Given the description of an element on the screen output the (x, y) to click on. 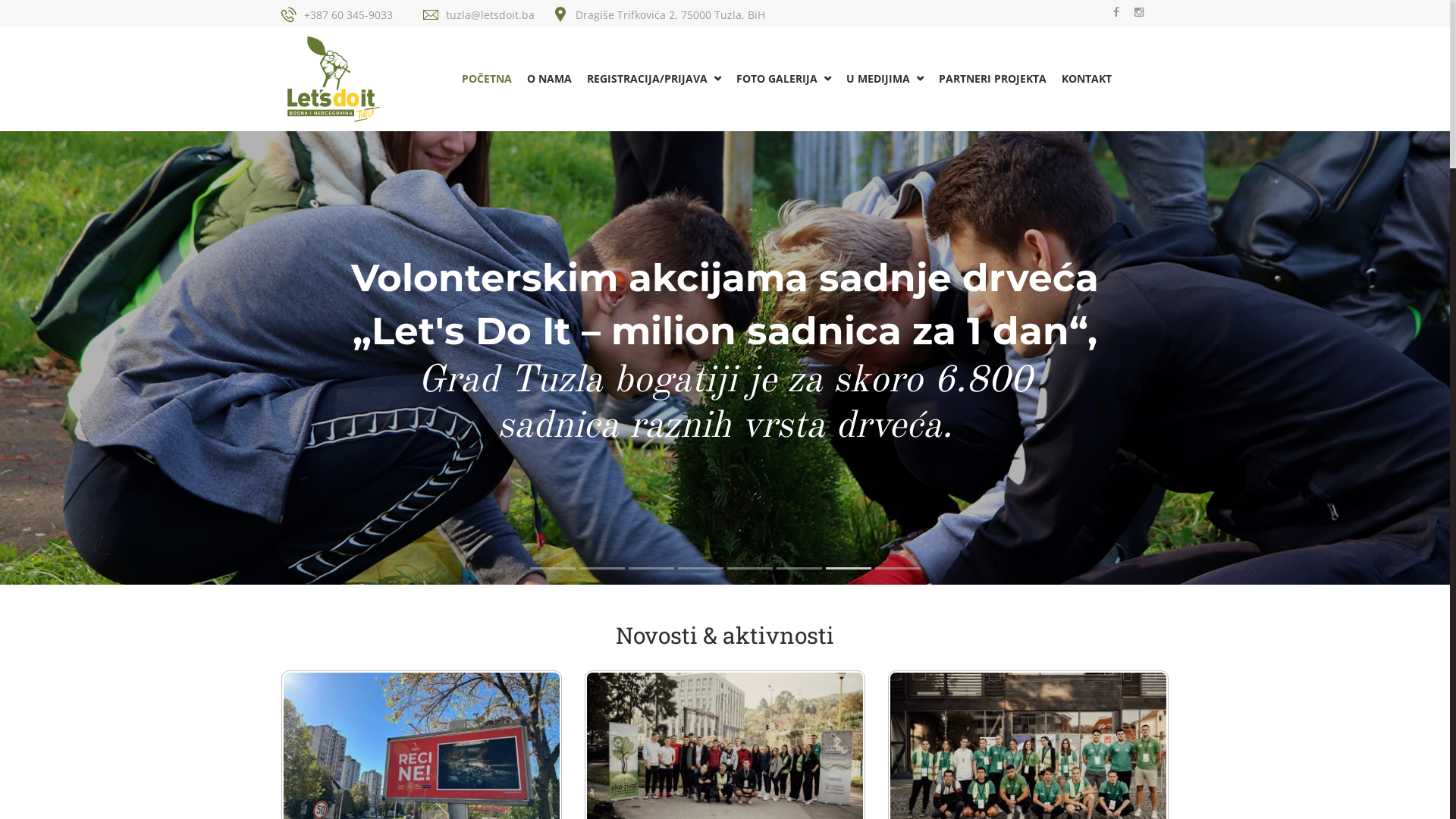
KONTAKT Element type: text (1086, 78)
O NAMA Element type: text (549, 78)
PARTNERI PROJEKTA Element type: text (992, 78)
